Given the description of an element on the screen output the (x, y) to click on. 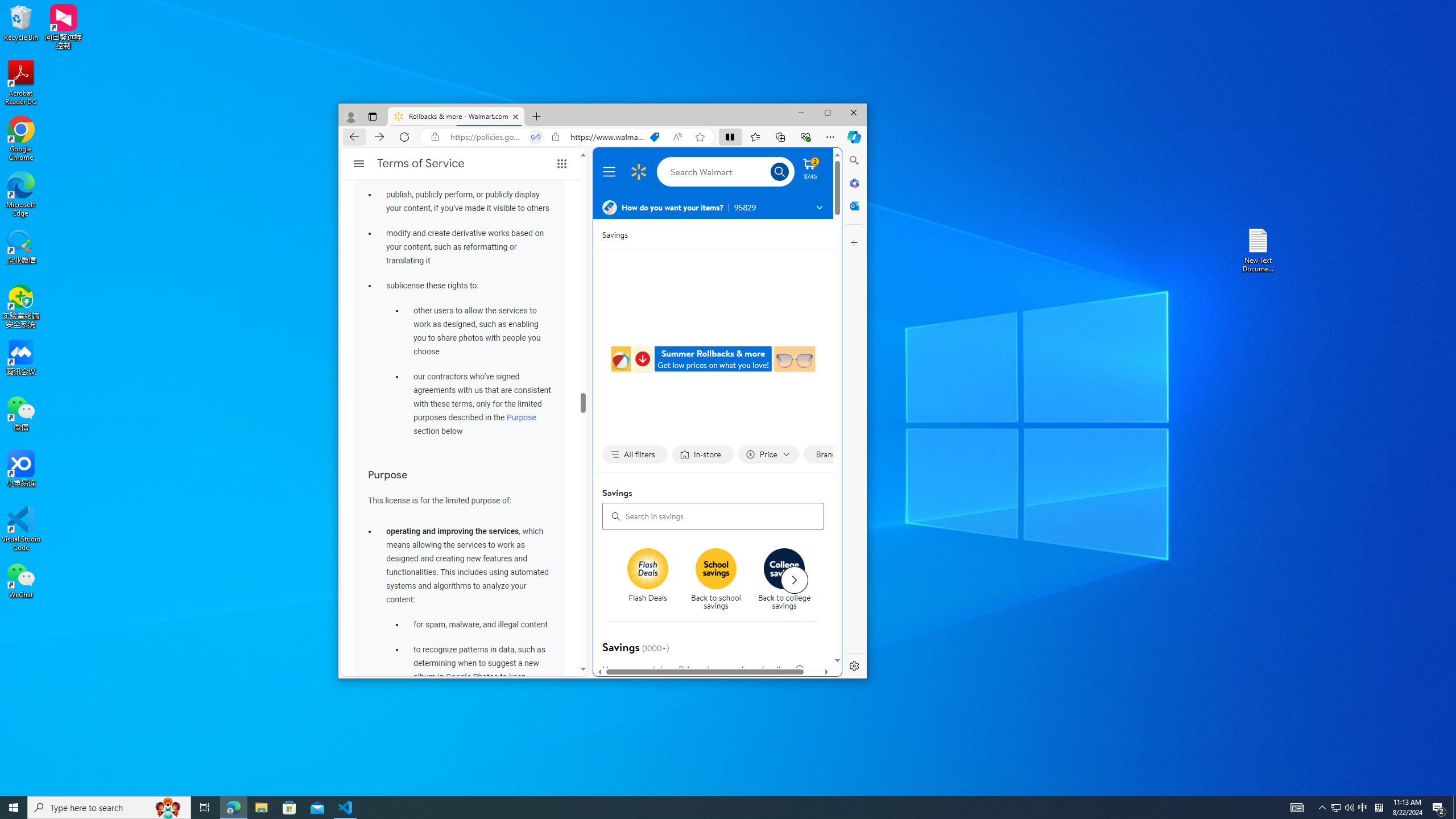
Back to School savings Back to school savings (715, 579)
Back to College savings Back to college savings (783, 579)
Menu (611, 171)
Filter by Brand not applied, activate to change (830, 454)
Acrobat Reader DC (21, 82)
Close Search pane (854, 159)
Back to college savings (788, 579)
All filters none applied, activate to change (635, 454)
